Given the description of an element on the screen output the (x, y) to click on. 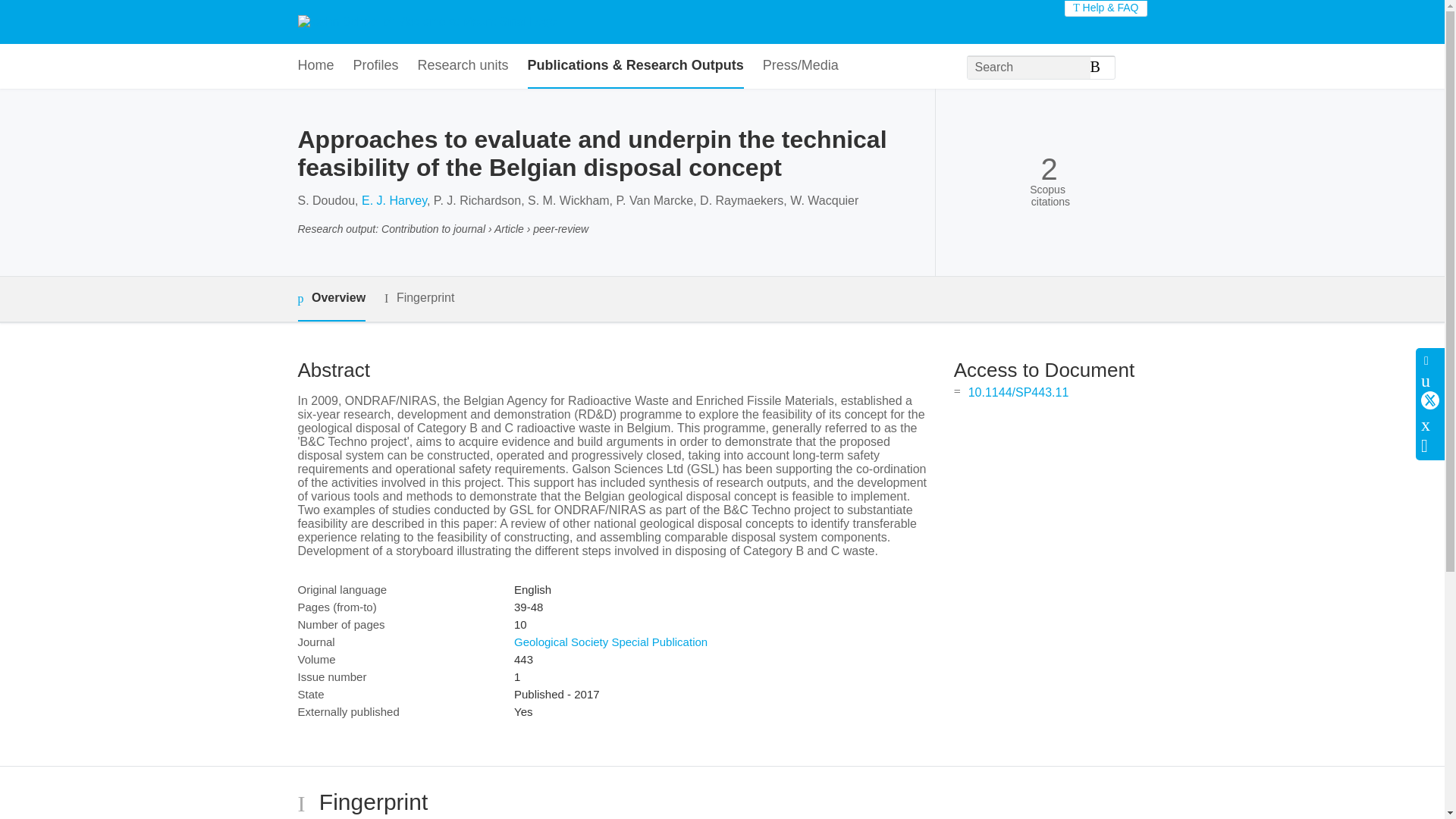
E. J. Harvey (393, 200)
Geological Society Special Publication (610, 641)
Icahn School of Medicine at Mount Sinai Home (426, 21)
Overview (331, 298)
Research units (462, 66)
Profiles (375, 66)
Fingerprint (419, 298)
